Given the description of an element on the screen output the (x, y) to click on. 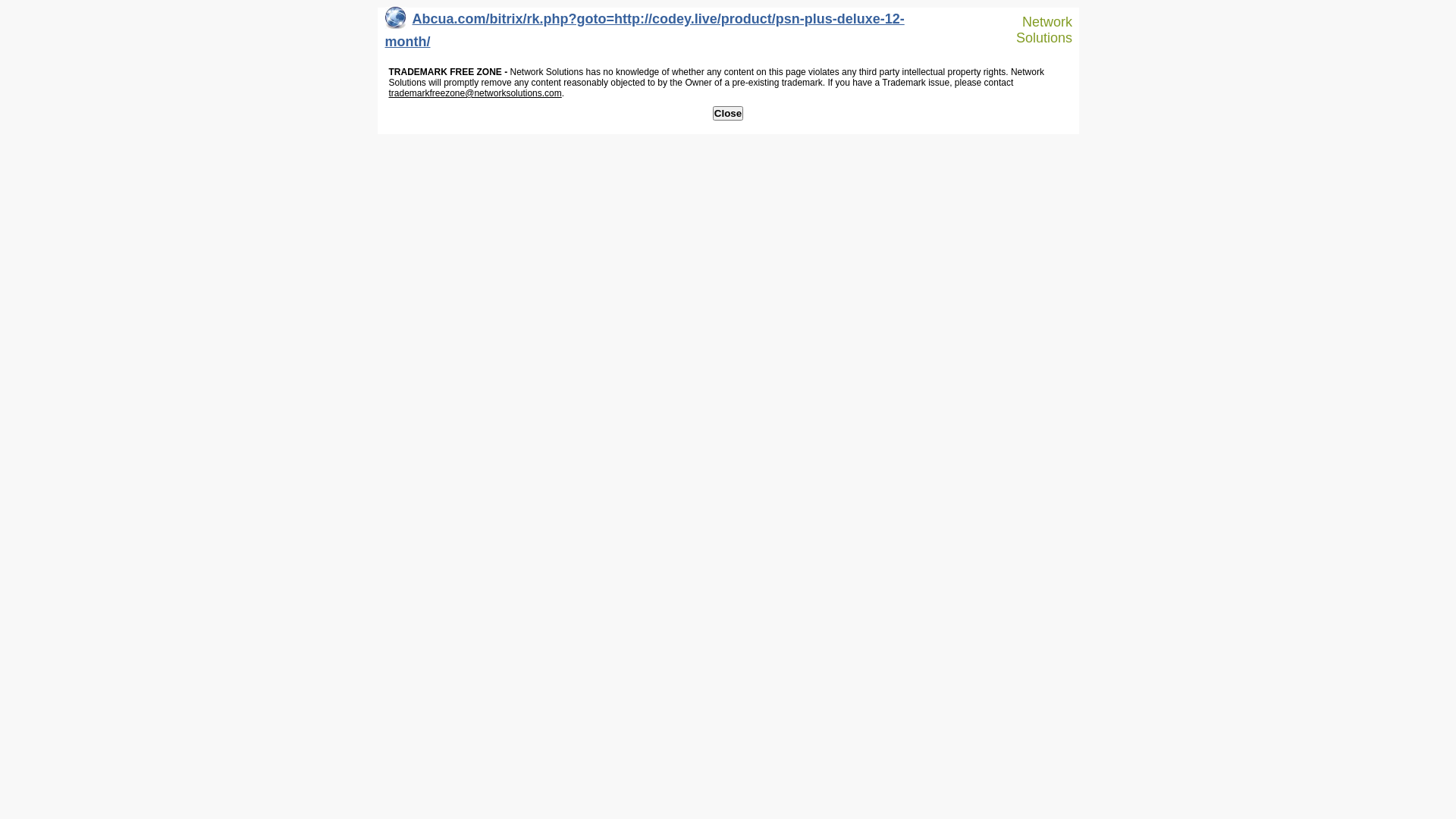
Close Element type: text (727, 113)
trademarkfreezone@networksolutions.com Element type: text (474, 92)
Network Solutions Element type: text (1037, 29)
